Given the description of an element on the screen output the (x, y) to click on. 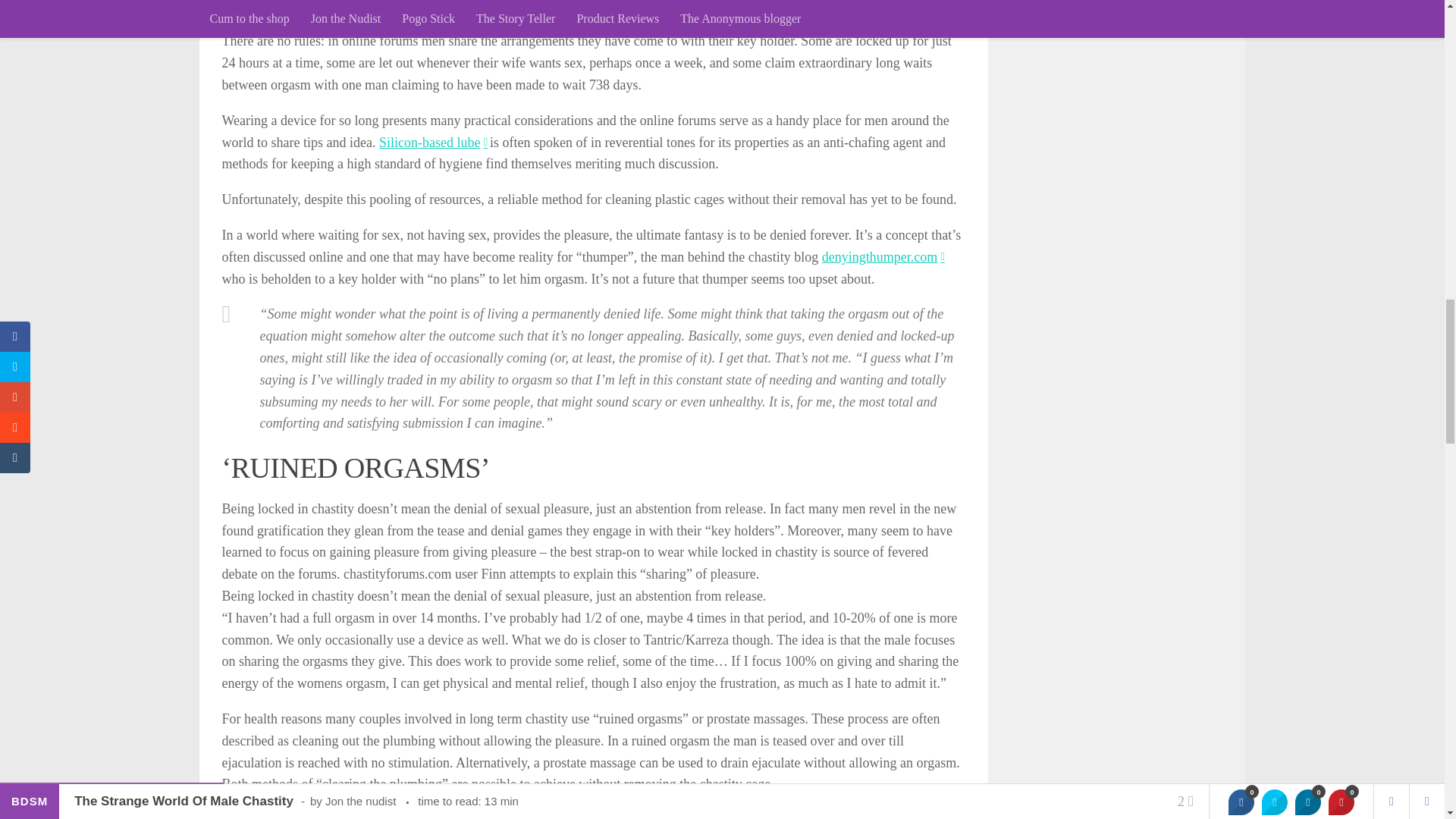
Lube (432, 142)
denyingthumper.com (882, 256)
